Given the description of an element on the screen output the (x, y) to click on. 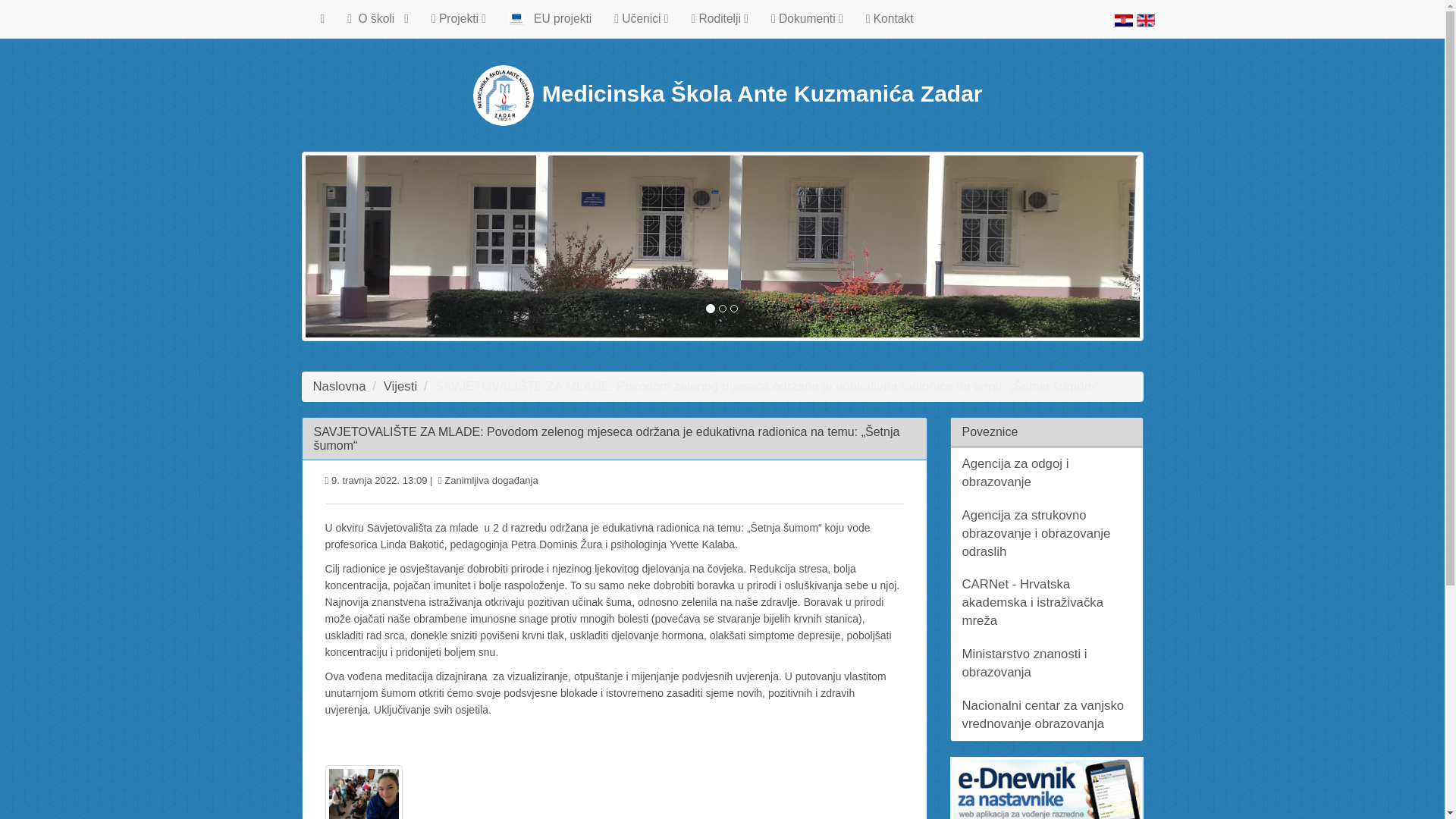
  EU projekti (549, 18)
 Projekti  (458, 18)
 Dokumenti  (807, 18)
 Roditelji  (719, 18)
